Given the description of an element on the screen output the (x, y) to click on. 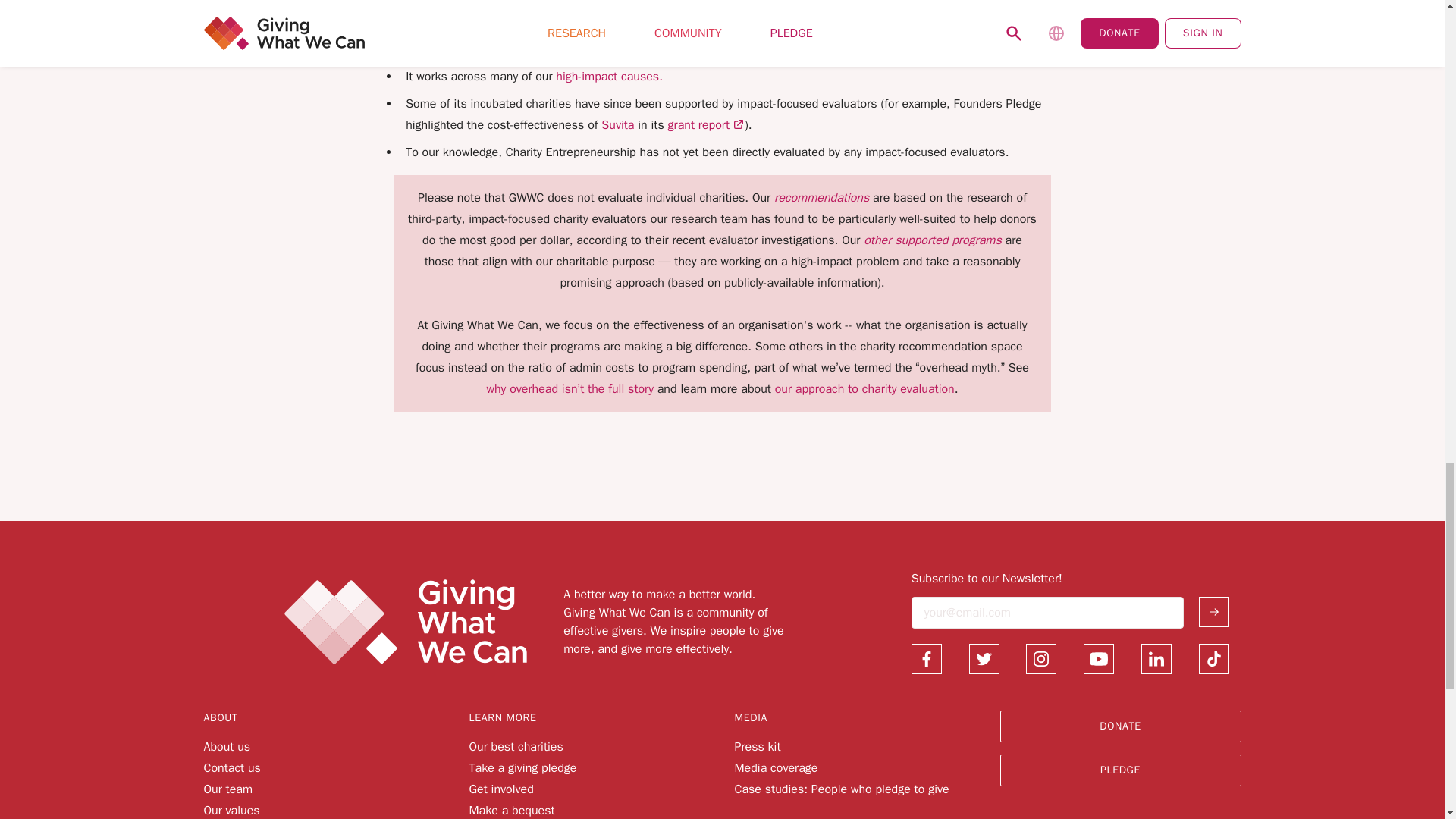
grant report (706, 124)
Suvita (617, 124)
high-impact causes. (609, 76)
other supported programs (932, 240)
our approach to charity evaluation (863, 388)
recommendations (823, 197)
Submit (1213, 612)
